Given the description of an element on the screen output the (x, y) to click on. 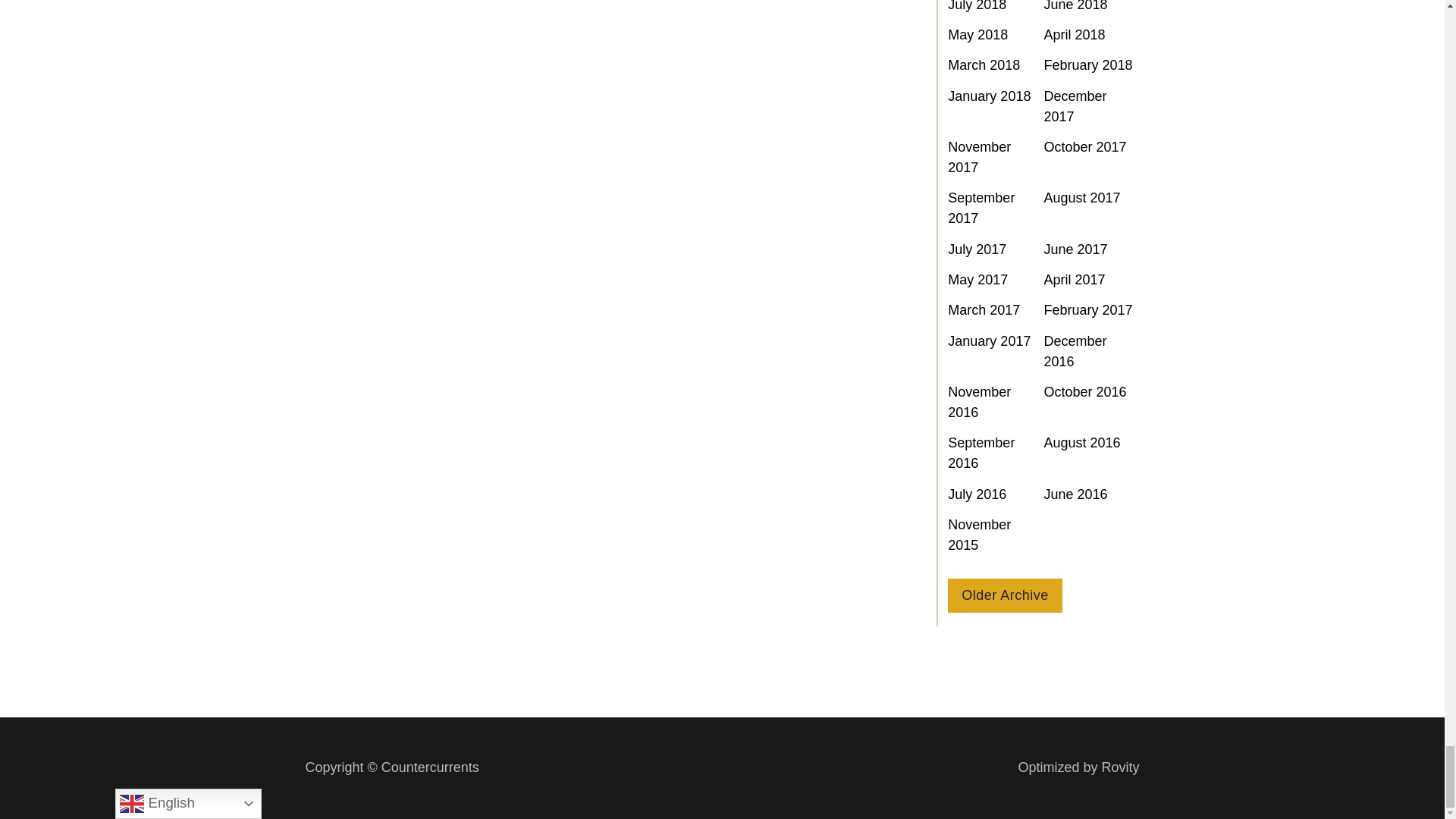
Rovity (1077, 767)
